Given the description of an element on the screen output the (x, y) to click on. 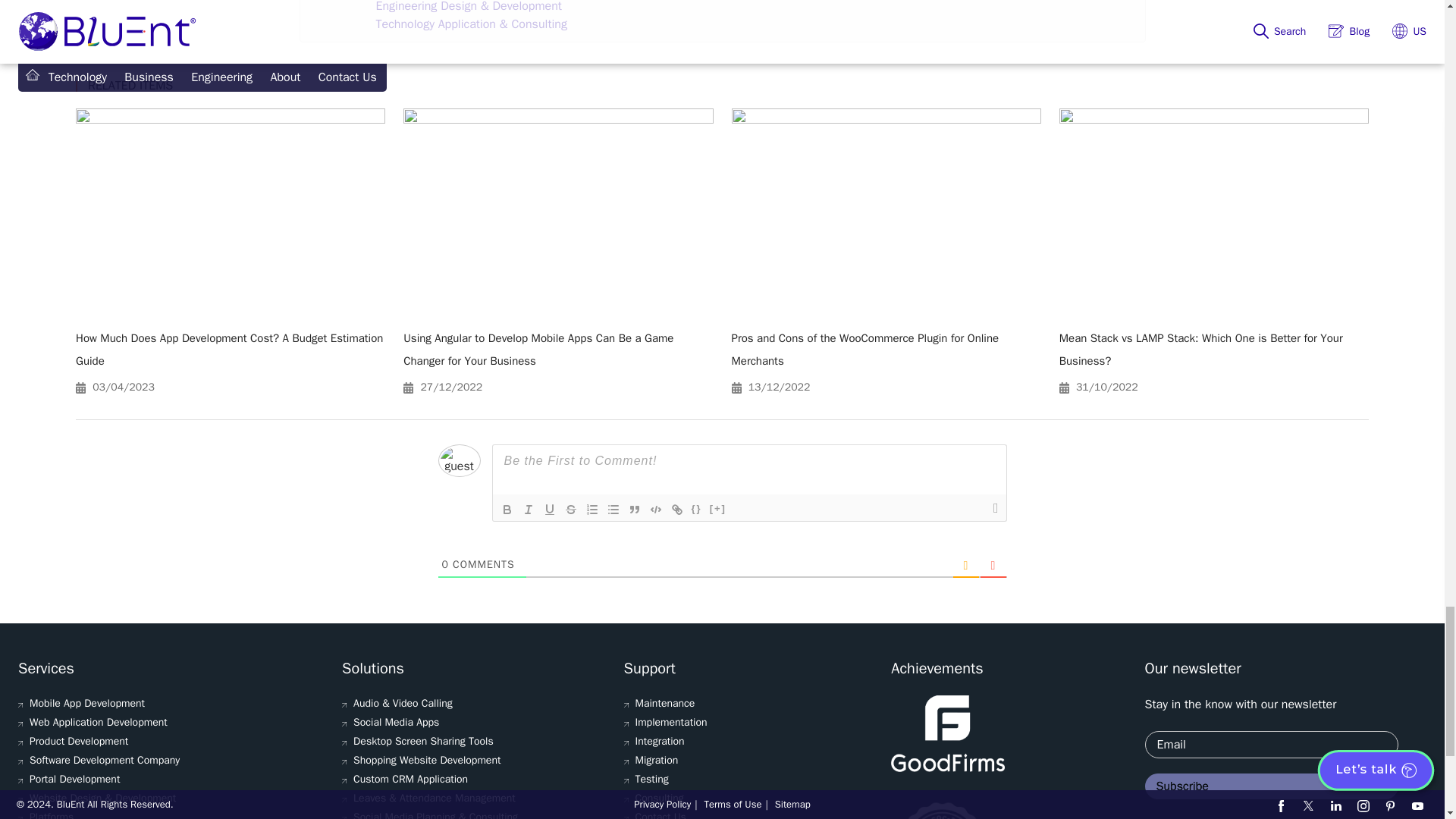
Italic (527, 509)
Ordered List (591, 509)
Code Block (655, 509)
Underline (548, 509)
Strike (569, 509)
Unordered List (612, 509)
Subscribe (1270, 786)
Bold (506, 509)
Blockquote (634, 509)
